Given the description of an element on the screen output the (x, y) to click on. 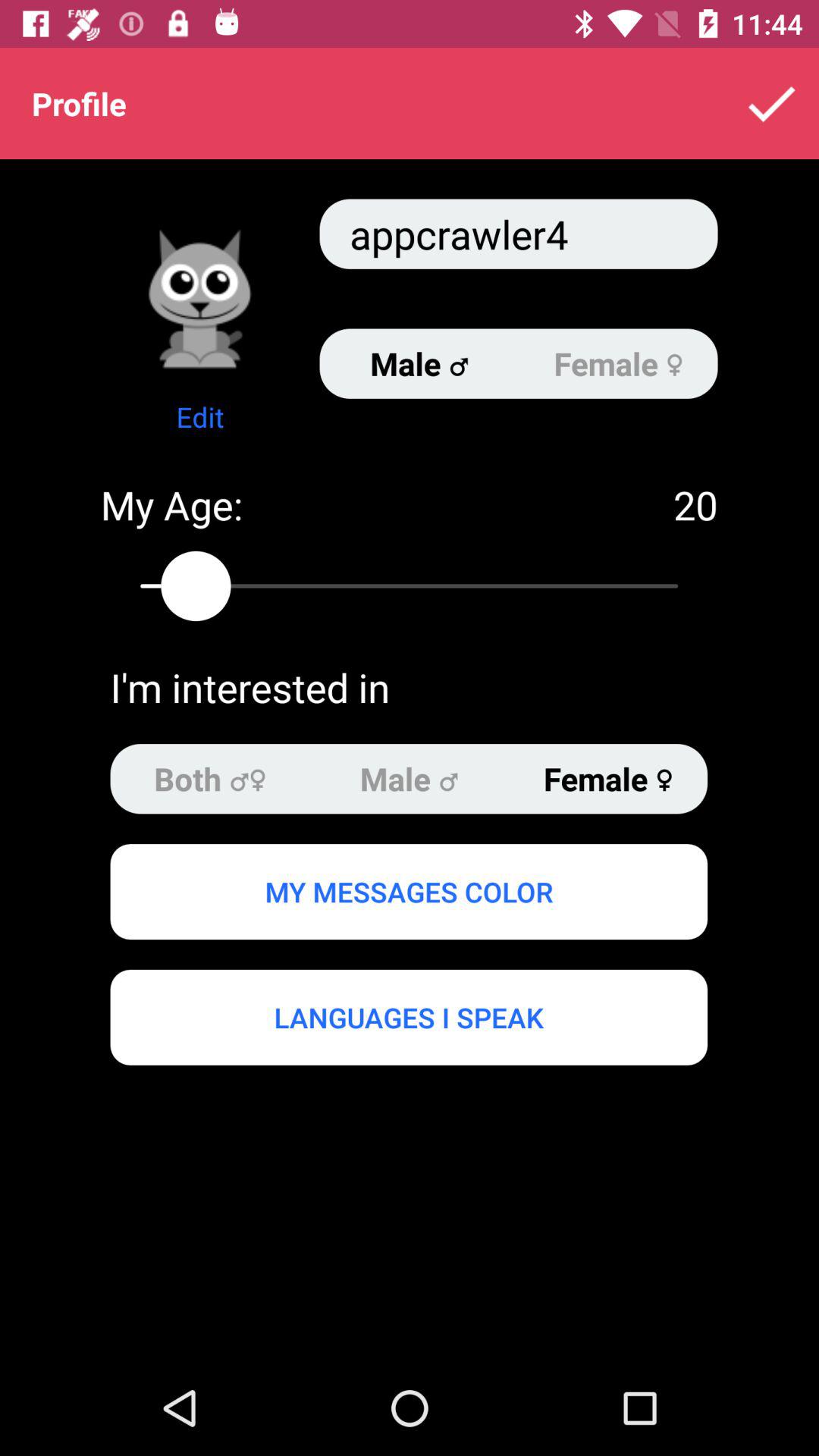
flip until the languages i speak icon (408, 1017)
